Given the description of an element on the screen output the (x, y) to click on. 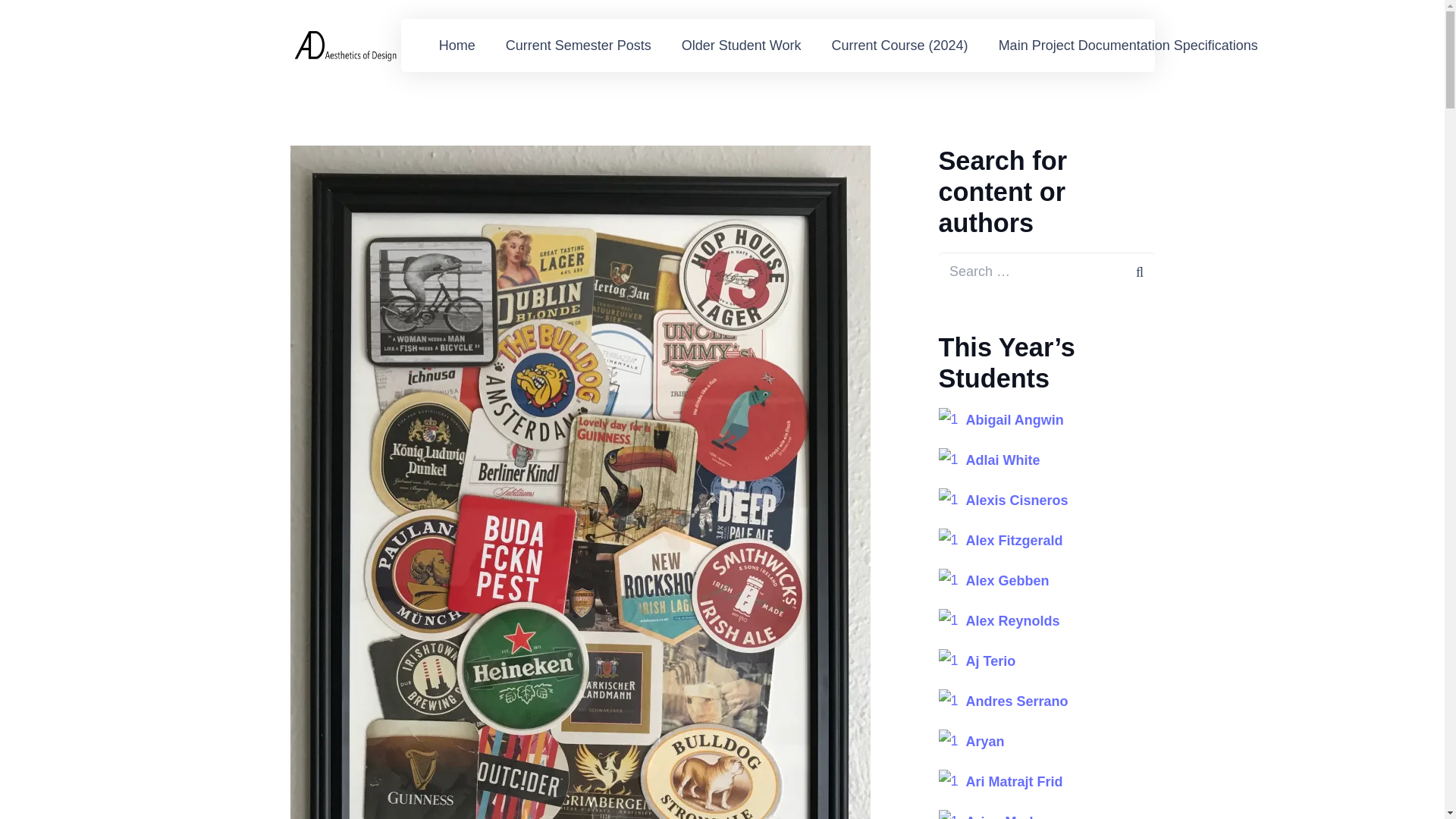
Home (456, 45)
Current Semester Posts (578, 45)
Older Student Work (741, 45)
